Given the description of an element on the screen output the (x, y) to click on. 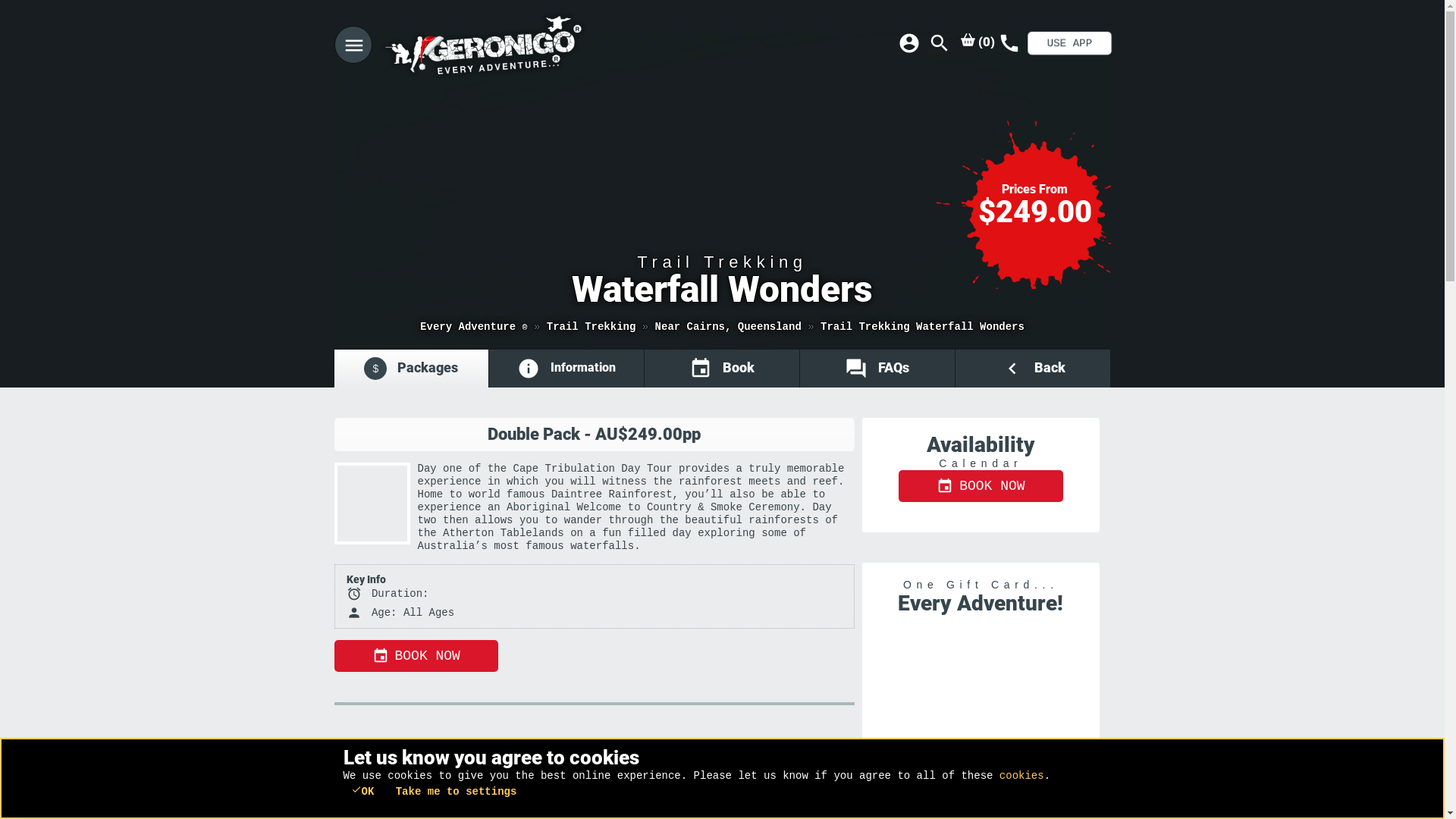
Near Cairns, Queensland Element type: text (728, 326)
cookies Element type: text (1021, 775)
navigate_before Back Element type: text (1032, 368)
Take me to settings Element type: text (456, 791)
question_answer FAQs Element type: text (877, 368)
$ Packages Element type: text (410, 368)
homepage Element type: hover (534, 45)
Double Pack - AU$249.00pp Element type: text (593, 434)
search
Search Element type: text (939, 42)
Trail Trekking Element type: text (591, 326)
(0) Element type: text (977, 41)
event Book Element type: text (721, 368)
USE APP Element type: text (1063, 41)
account_circle
Bookings Element type: text (908, 42)
call
Call Element type: text (1008, 42)
menu
Menu Element type: text (352, 44)
event_dateBOOK NOW Element type: text (980, 486)
event_dateBOOK NOW Element type: text (415, 655)
info Information Element type: text (566, 368)
checkOK Element type: text (361, 790)
Trail Trekking Waterfall Wonders Element type: text (922, 326)
